Given the description of an element on the screen output the (x, y) to click on. 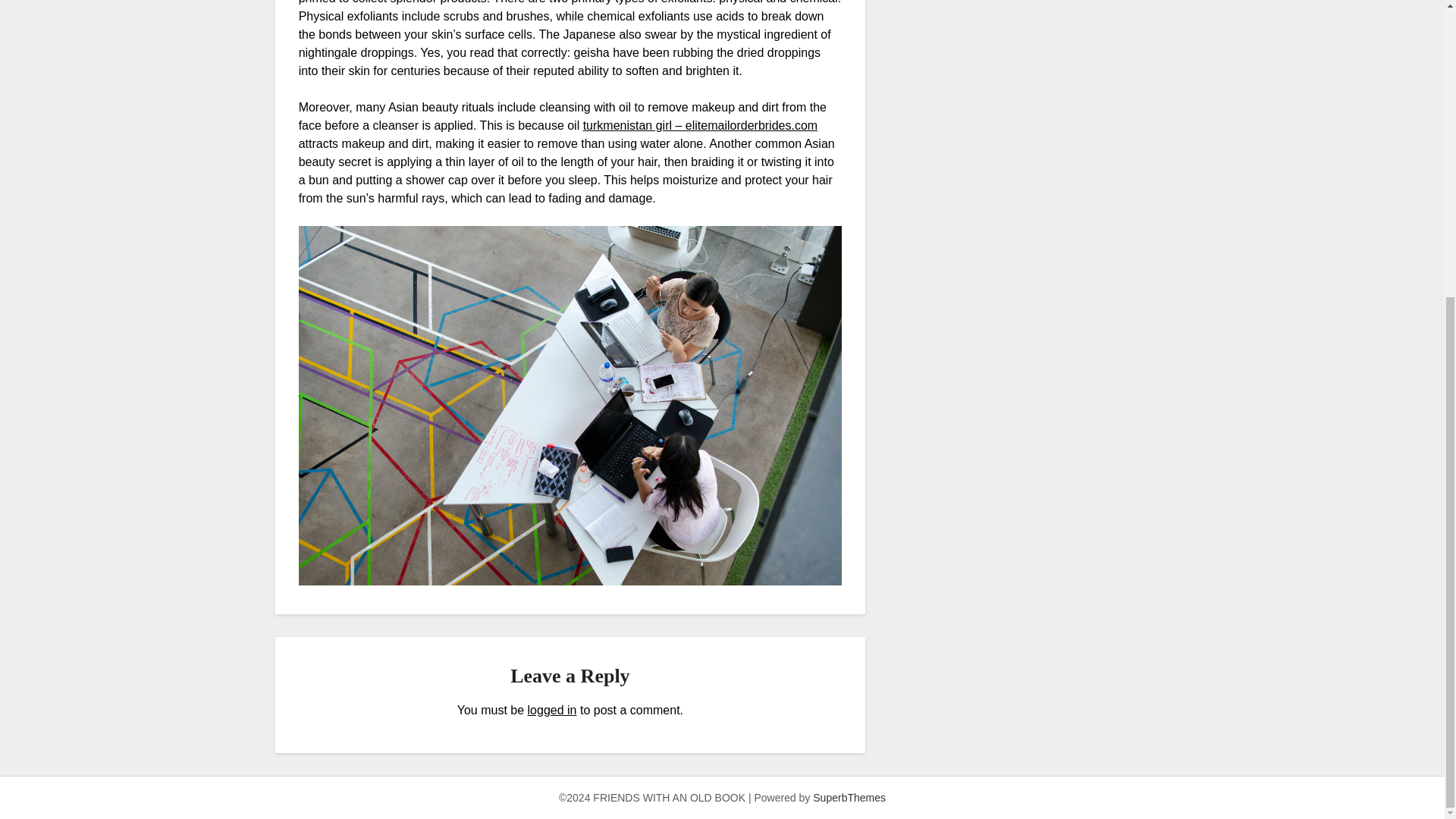
SuperbThemes (848, 797)
logged in (551, 709)
